Given the description of an element on the screen output the (x, y) to click on. 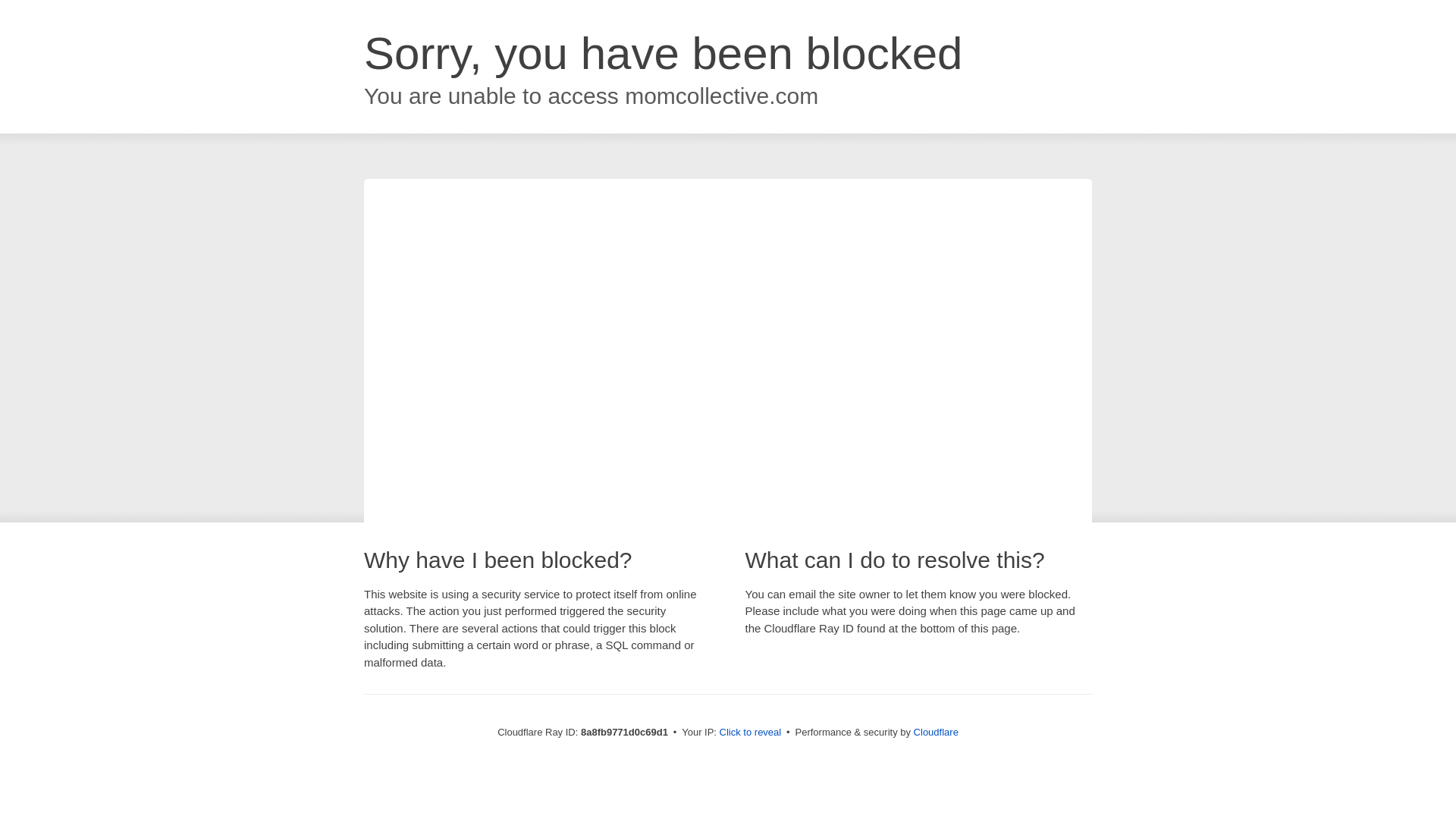
Cloudflare (936, 731)
Click to reveal (750, 732)
